Given the description of an element on the screen output the (x, y) to click on. 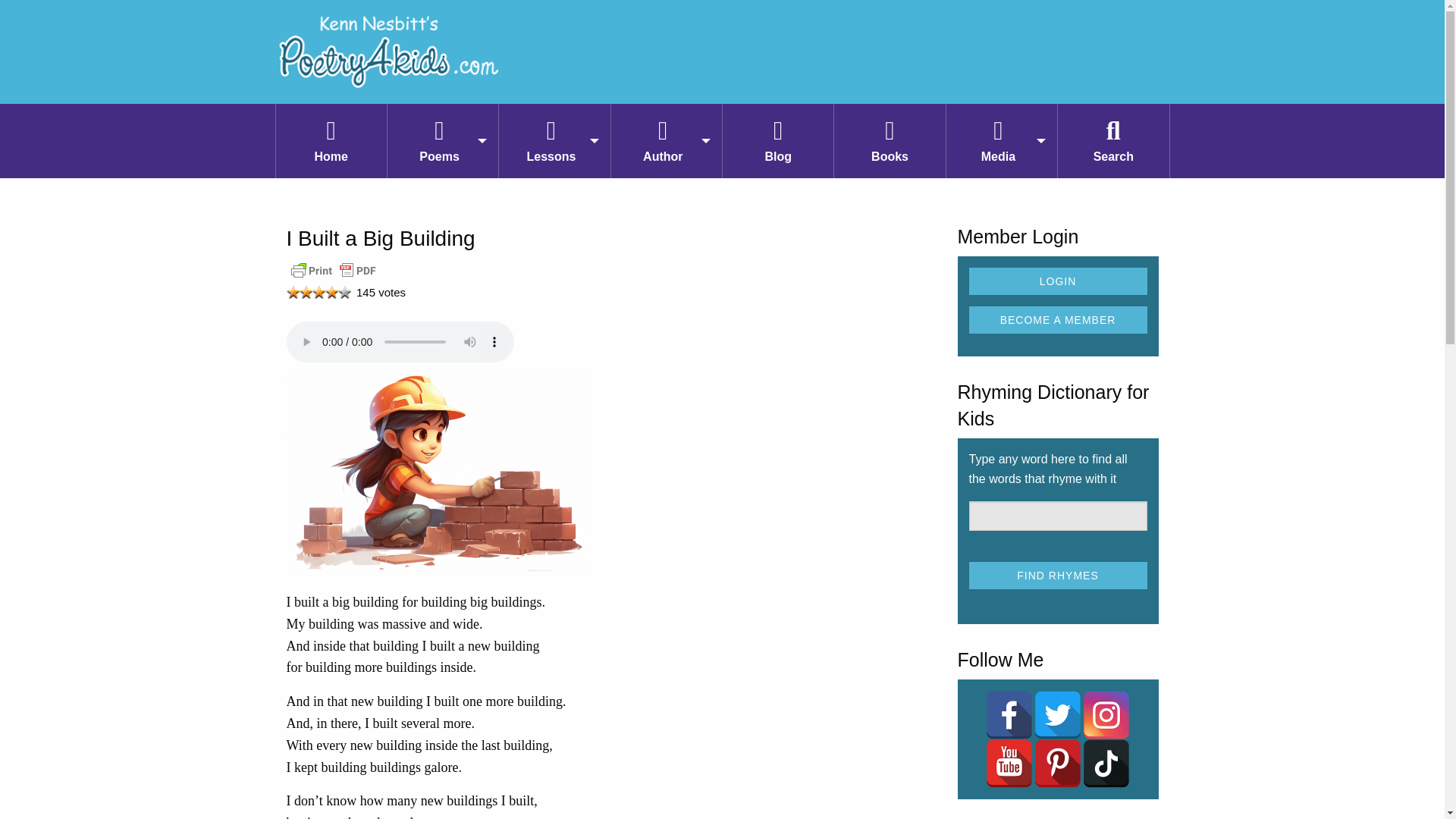
TikTok (1106, 763)
Instagram (1106, 715)
Pinterest (1057, 763)
Become a Member (1058, 319)
Twitter (1057, 715)
YouTube (1009, 763)
Find Rhymes (1058, 574)
Login (1058, 280)
Facebook (1009, 715)
